Given the description of an element on the screen output the (x, y) to click on. 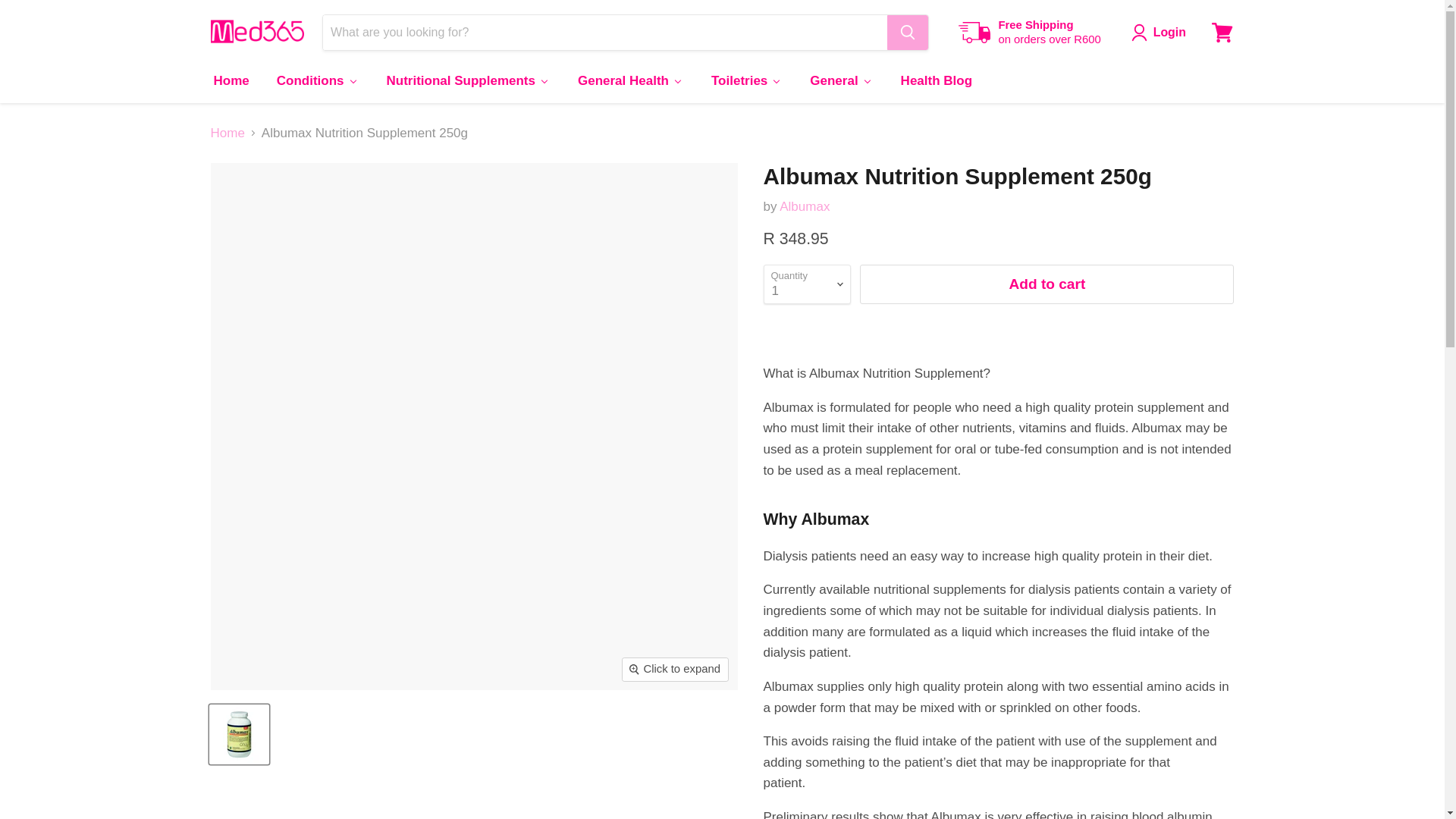
Home (230, 80)
View cart (1222, 32)
Conditions (317, 80)
Login (1169, 32)
